Given the description of an element on the screen output the (x, y) to click on. 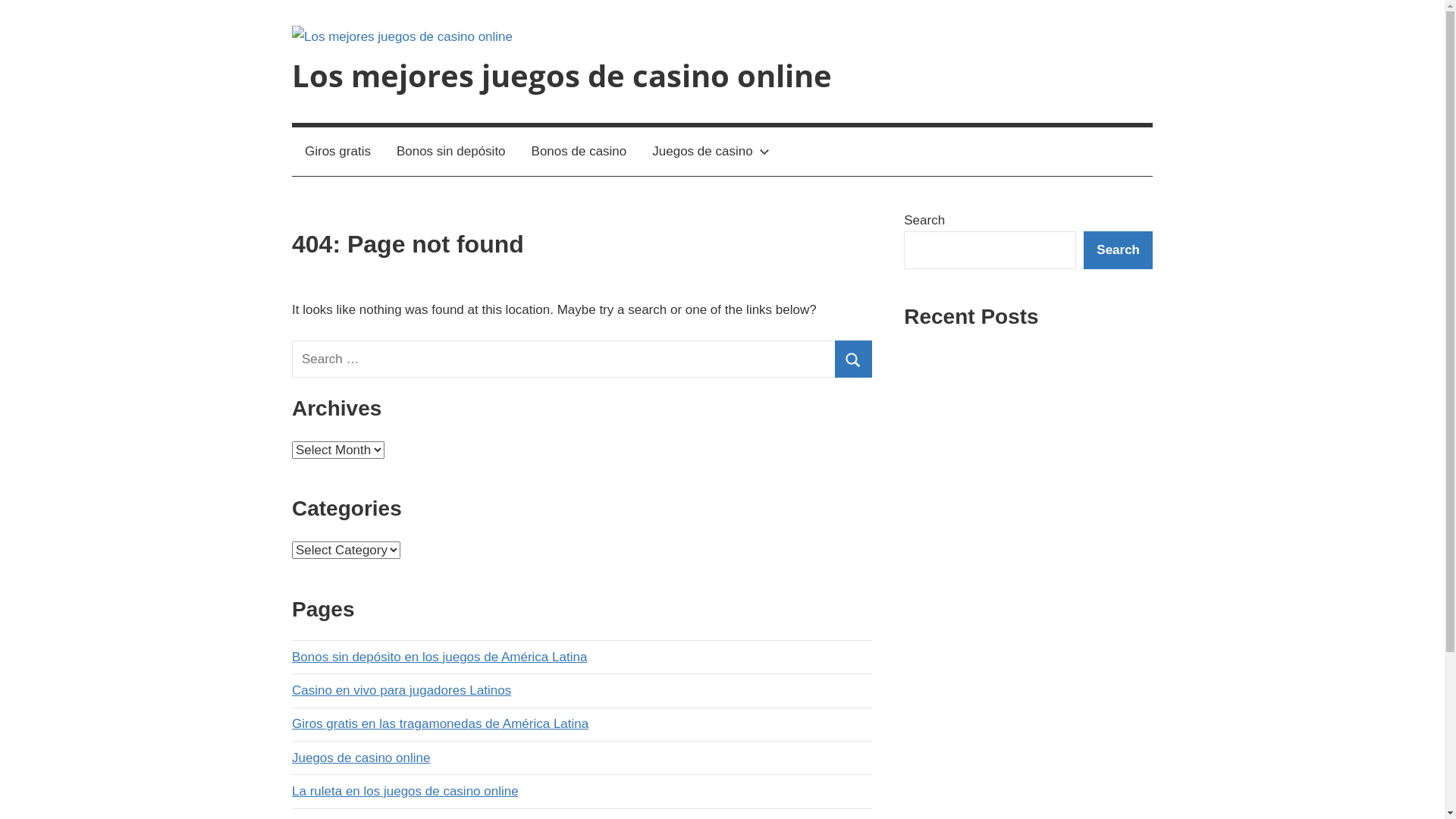
Juegos de casino online Element type: text (360, 757)
Juegos de casino Element type: text (707, 151)
Search Element type: text (1117, 250)
Casino en vivo para jugadores Latinos Element type: text (401, 690)
La ruleta en los juegos de casino online Element type: text (404, 791)
Giros gratis Element type: text (337, 151)
Los mejores juegos de casino online Element type: text (561, 75)
Search Element type: text (853, 358)
Bonos de casino Element type: text (579, 151)
Search for: Element type: hover (581, 358)
